Given the description of an element on the screen output the (x, y) to click on. 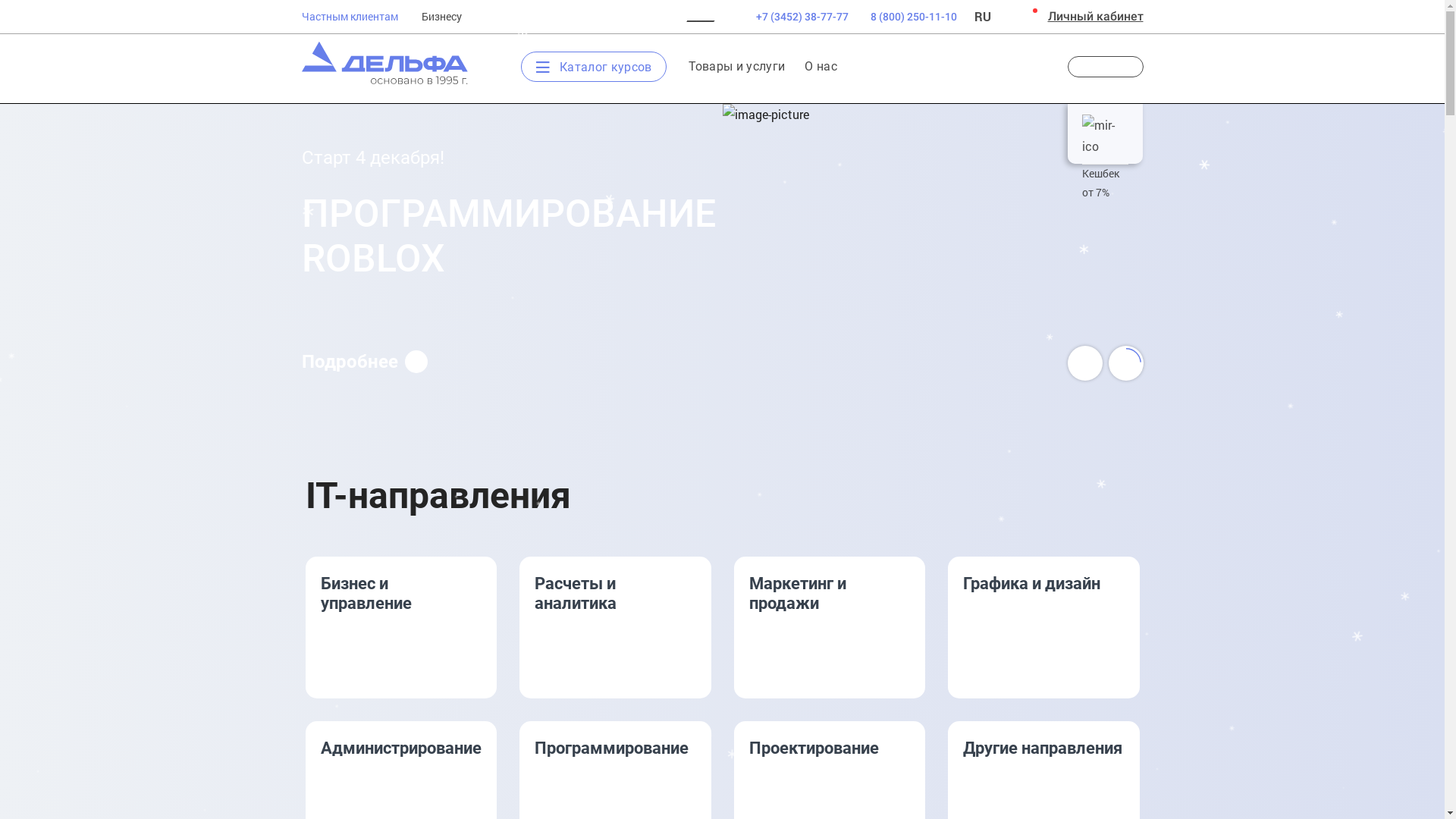
+7 (3452) 38-77-77 Element type: text (791, 16)
______ Element type: text (689, 15)
8 (800) 250-11-10 Element type: text (913, 16)
